Given the description of an element on the screen output the (x, y) to click on. 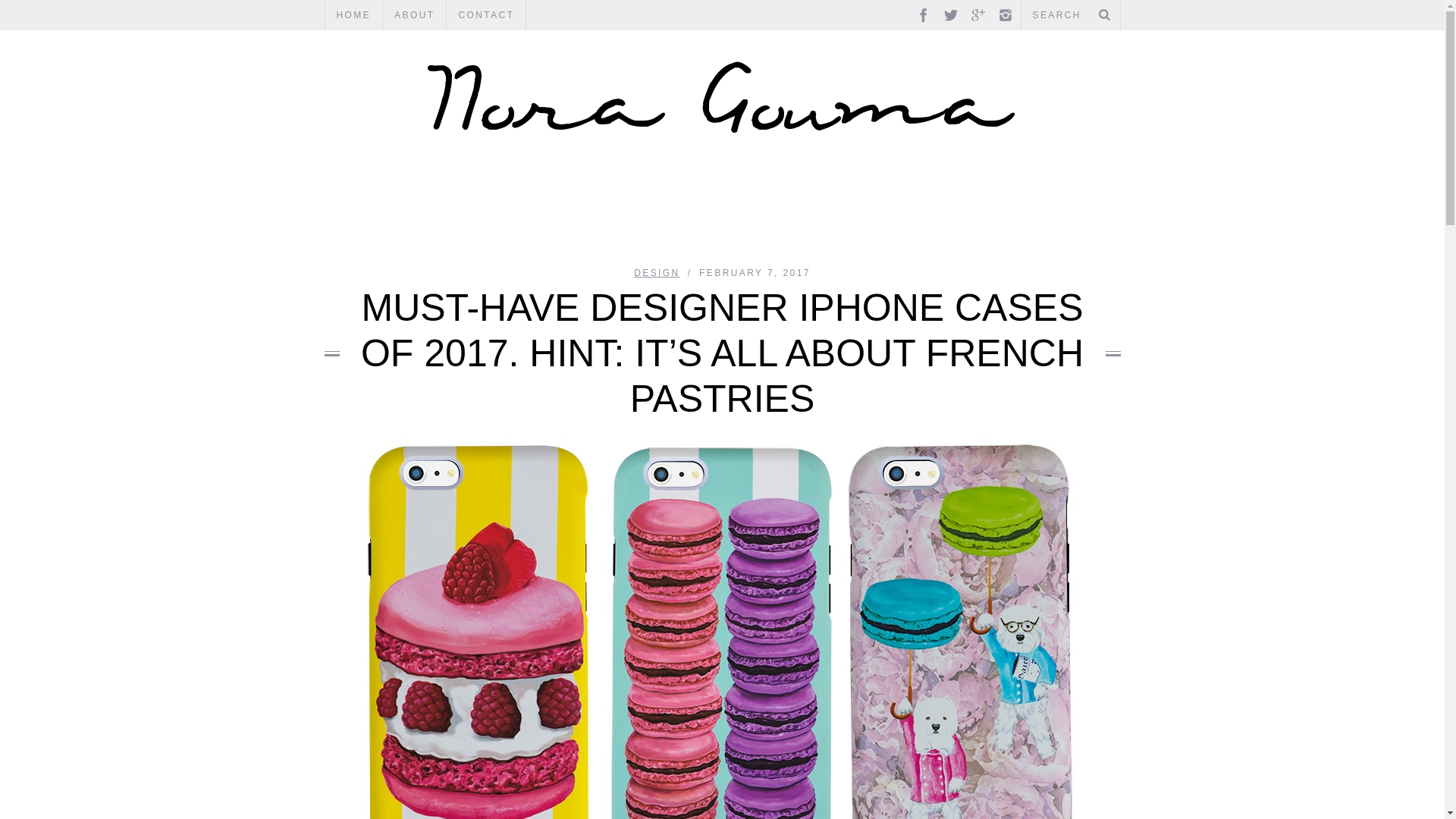
ABOUT (413, 14)
Search (1070, 15)
 -  (722, 96)
CONTACT (485, 14)
HOME (352, 14)
